Given the description of an element on the screen output the (x, y) to click on. 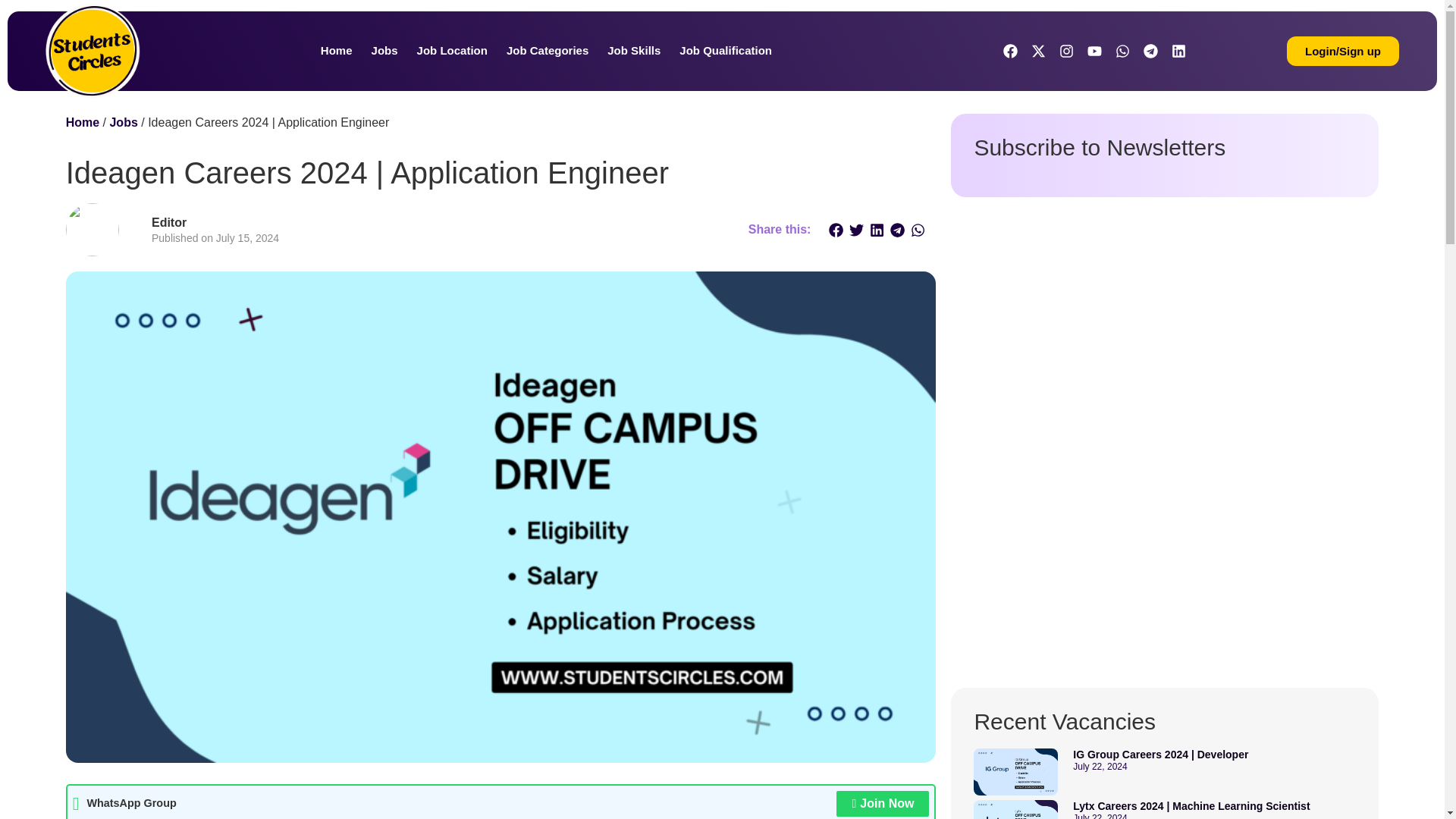
Job Categories (547, 50)
Job Skills (634, 50)
Jobs (384, 50)
Job Location (451, 50)
Home (336, 50)
